Given the description of an element on the screen output the (x, y) to click on. 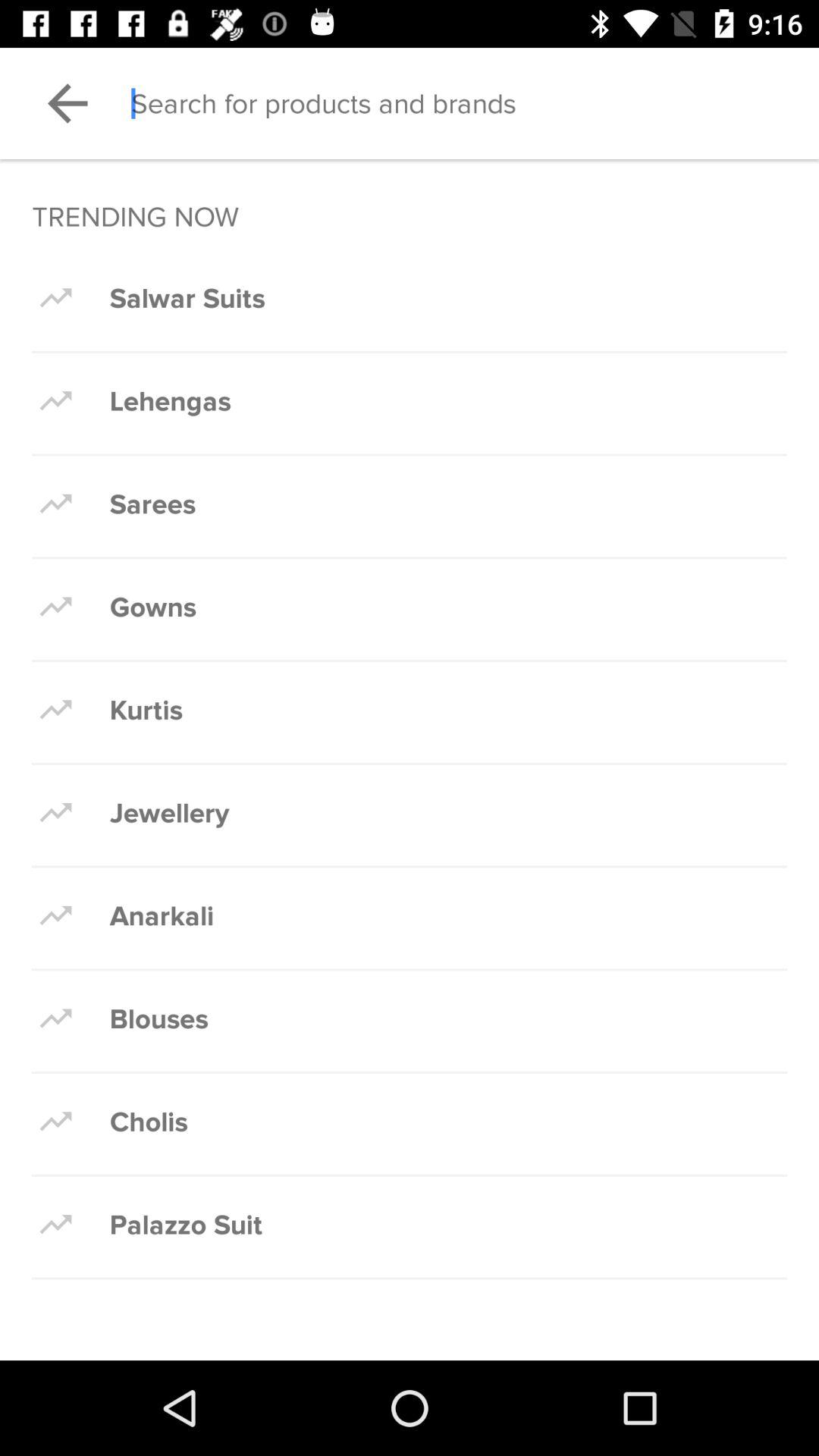
previous page (67, 103)
